Given the description of an element on the screen output the (x, y) to click on. 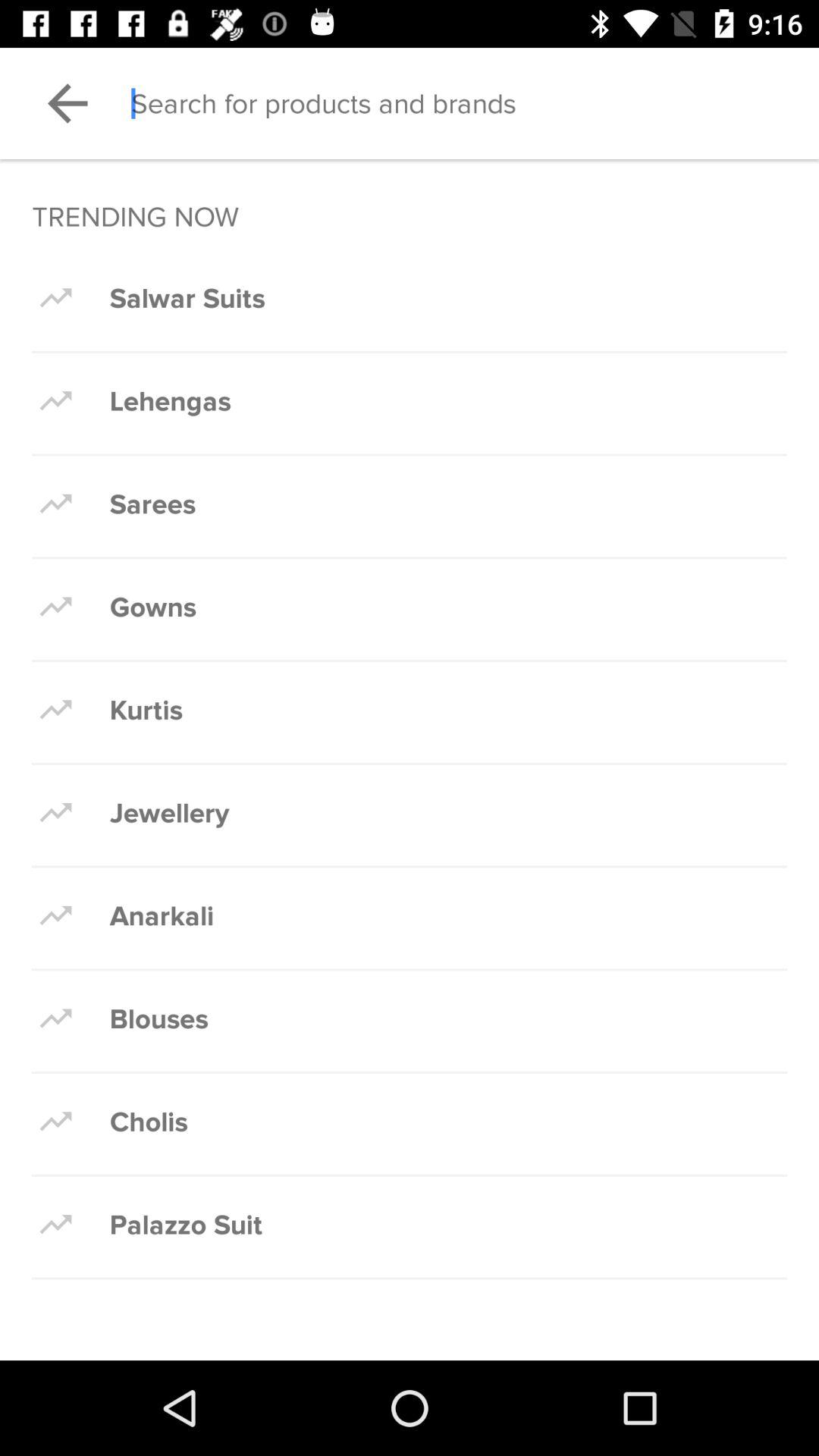
previous page (67, 103)
